Given the description of an element on the screen output the (x, y) to click on. 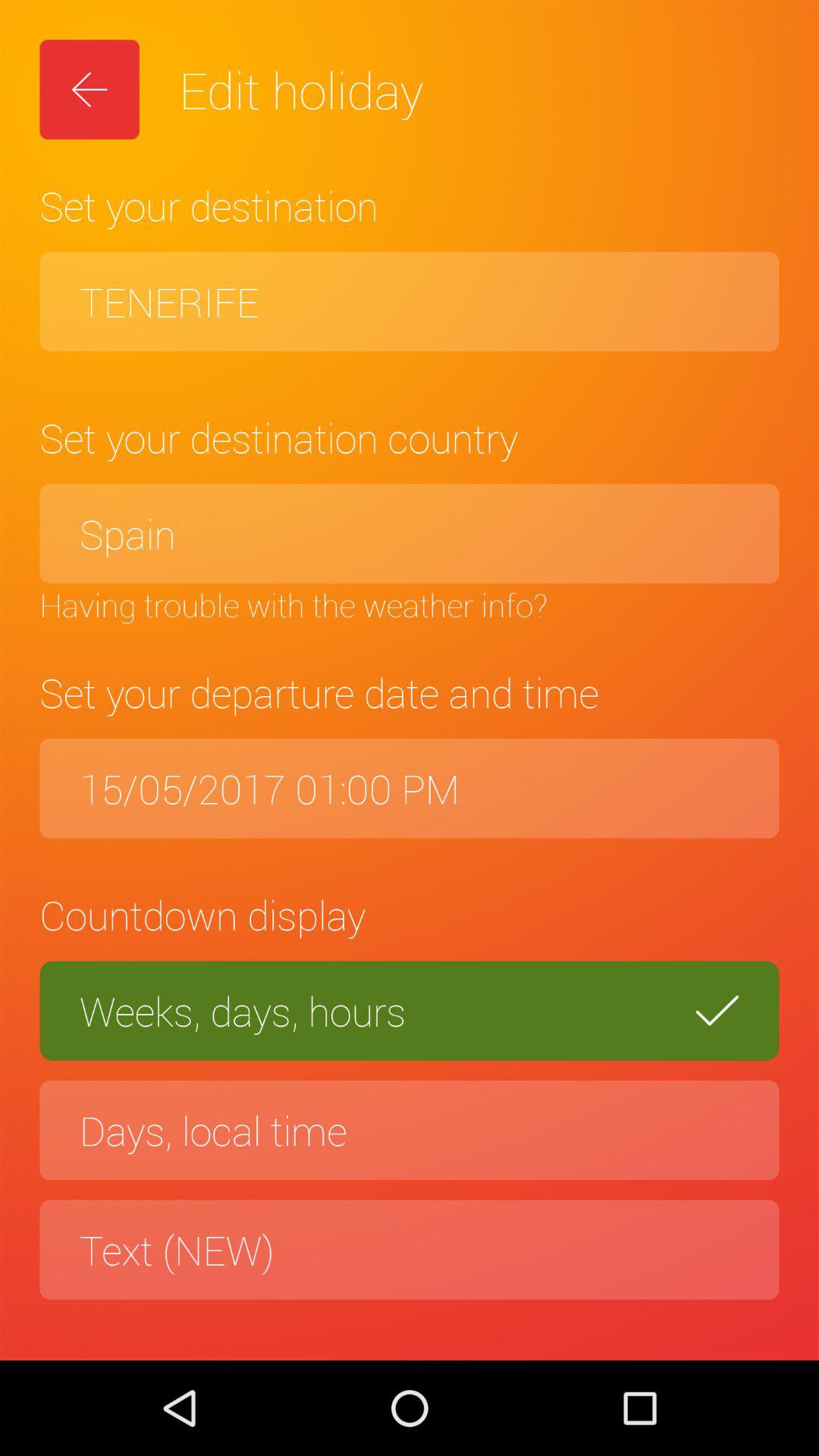
select icon below spain icon (409, 604)
